Given the description of an element on the screen output the (x, y) to click on. 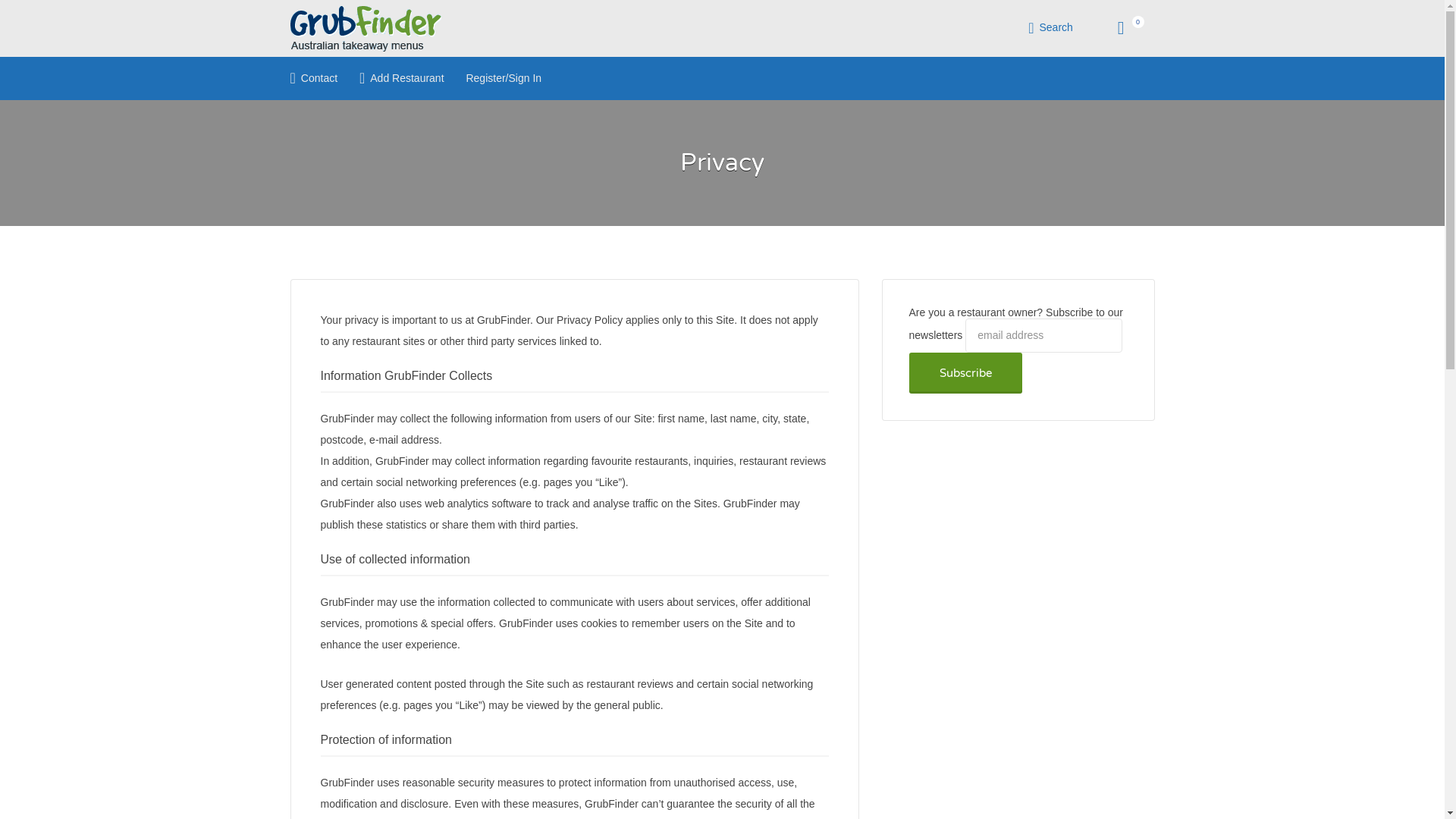
Add Restaurant Element type: text (398, 78)
0
Items Element type: text (1120, 28)
Contact Element type: text (310, 78)
Subscribe Element type: text (964, 372)
Register/Sign In Element type: text (503, 78)
Search Element type: text (1052, 27)
